Given the description of an element on the screen output the (x, y) to click on. 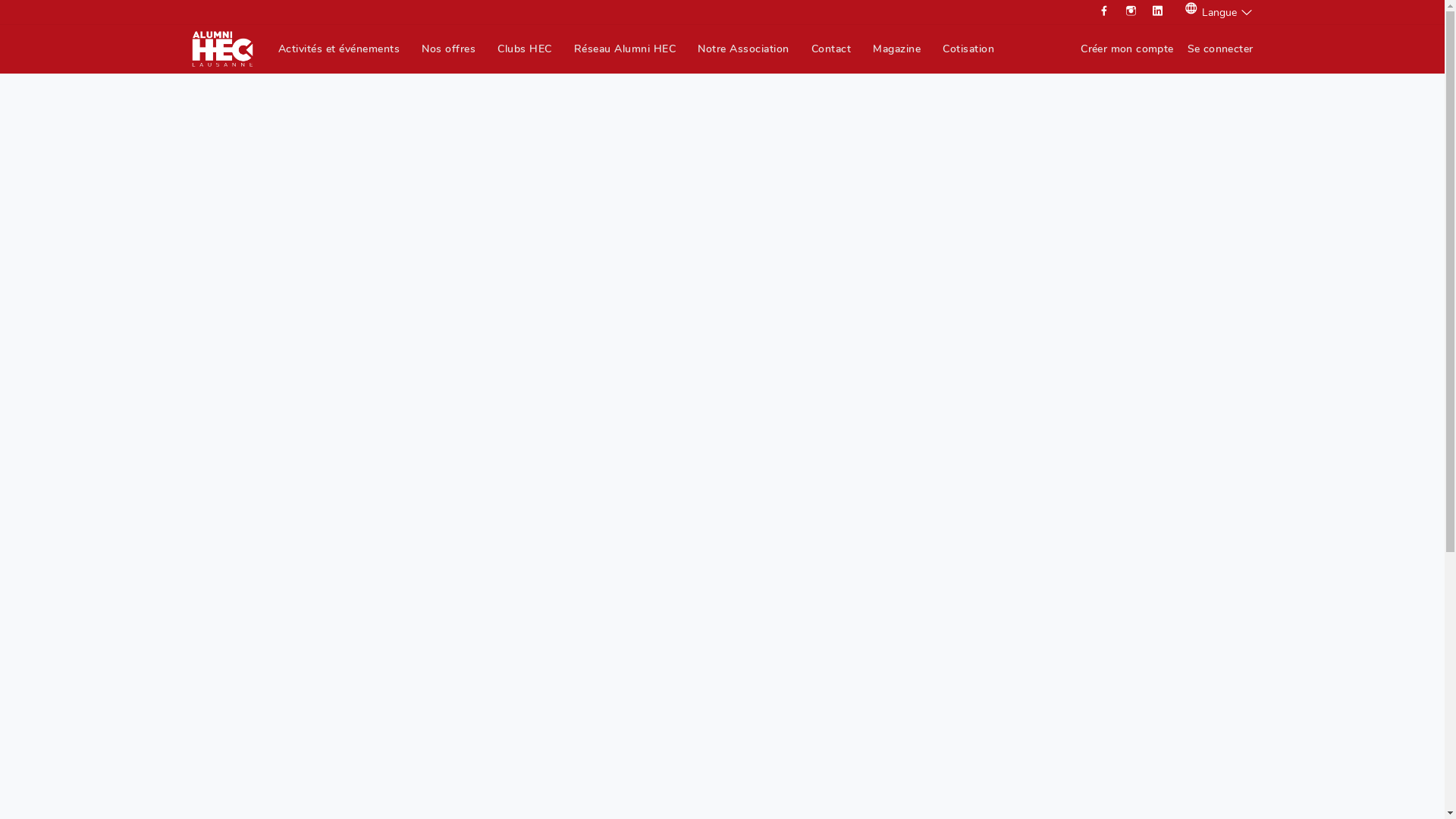
Nos offres Element type: text (448, 48)
Cotisation Element type: text (968, 48)
Se connecter Element type: text (1220, 48)
Clubs HEC Element type: text (524, 48)
Magazine Element type: text (896, 48)
Contact Element type: text (831, 48)
Notre Association Element type: text (743, 48)
